Given the description of an element on the screen output the (x, y) to click on. 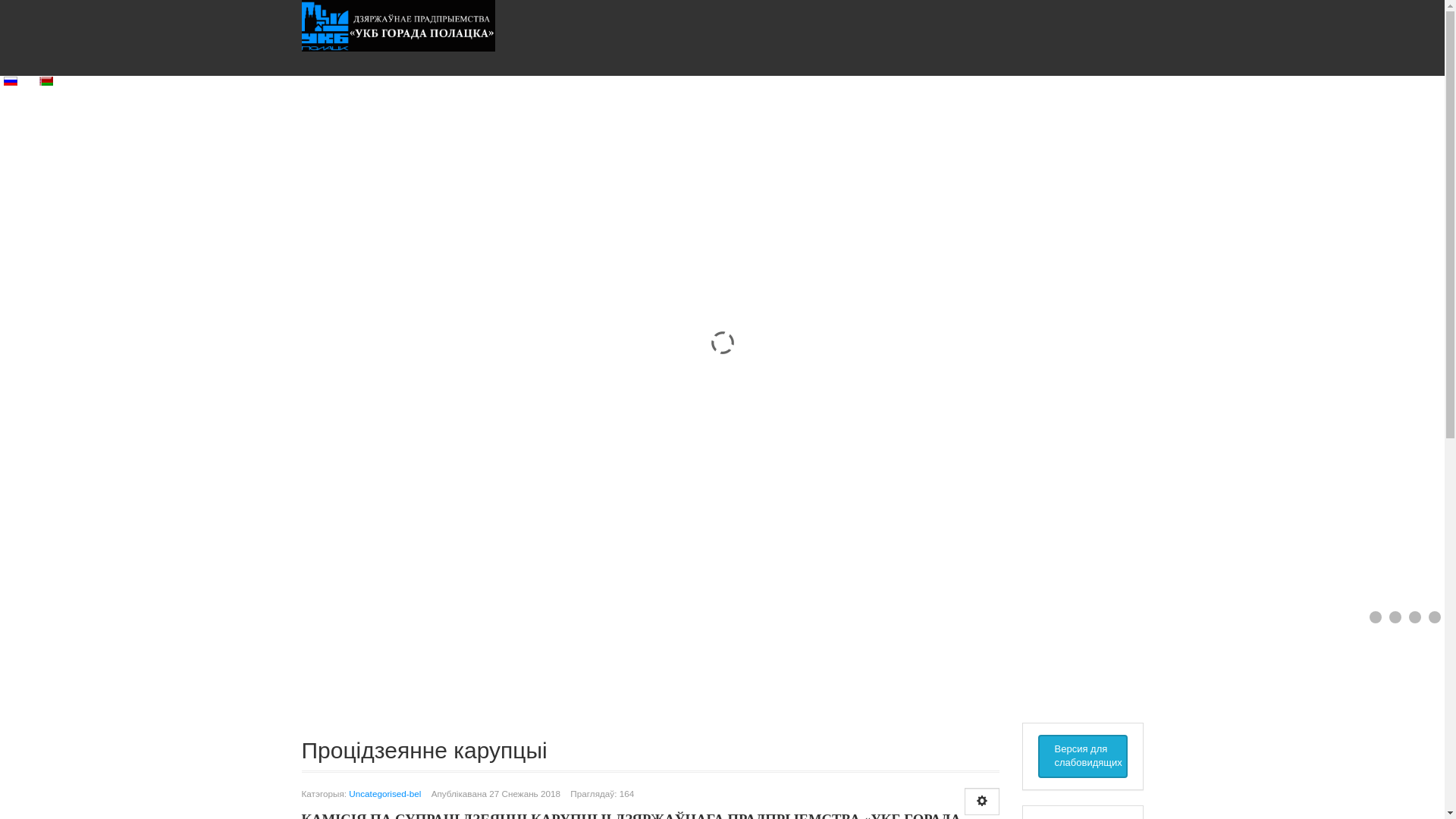
Uncategorised-bel Element type: text (384, 793)
